Given the description of an element on the screen output the (x, y) to click on. 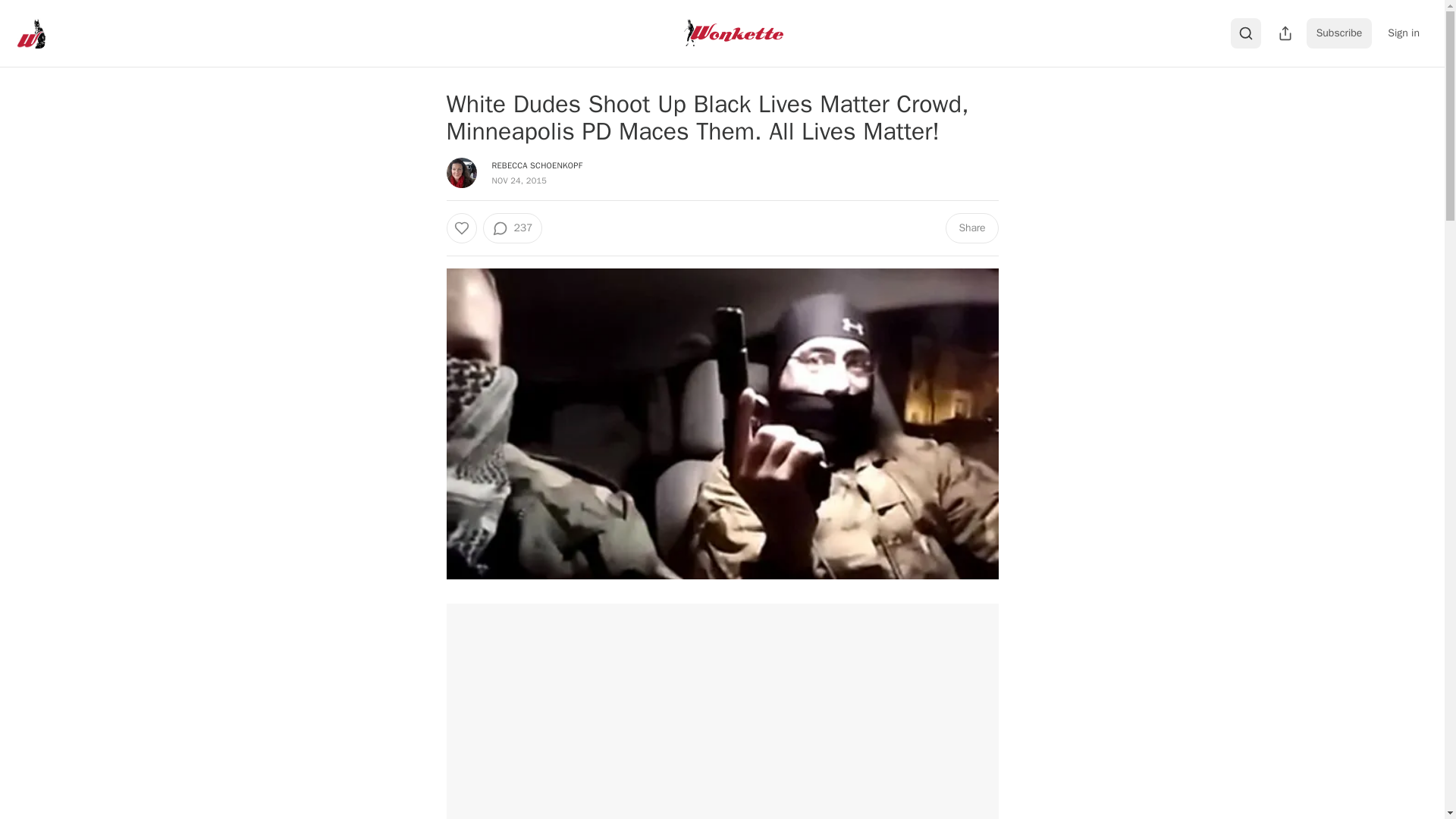
REBECCA SCHOENKOPF (537, 164)
237 (511, 227)
Share (970, 227)
Subscribe (1339, 33)
Sign in (1403, 33)
